Given the description of an element on the screen output the (x, y) to click on. 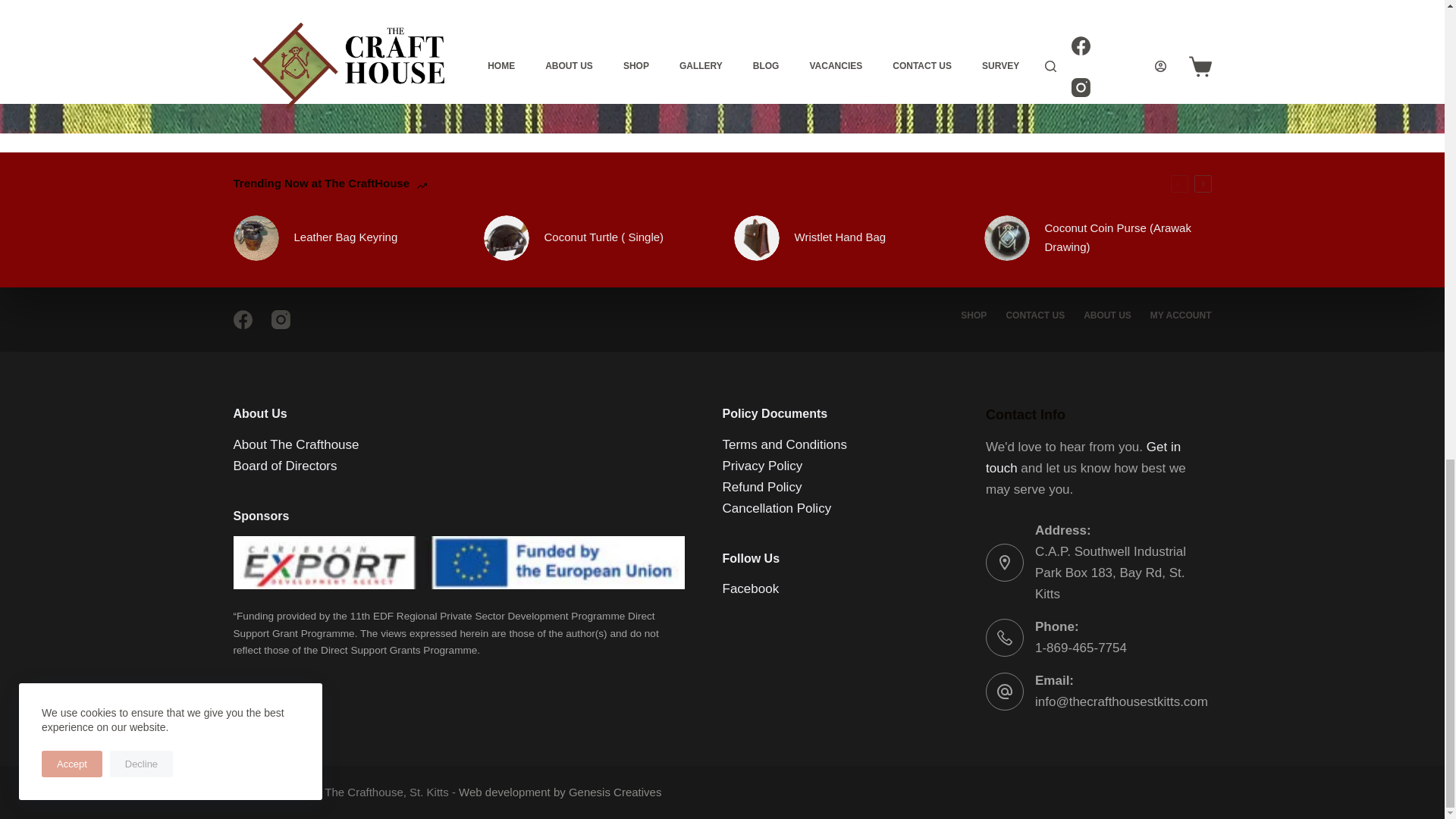
purse (1006, 238)
bag1 (755, 238)
keychain-26 (255, 238)
turtle (506, 238)
